Given the description of an element on the screen output the (x, y) to click on. 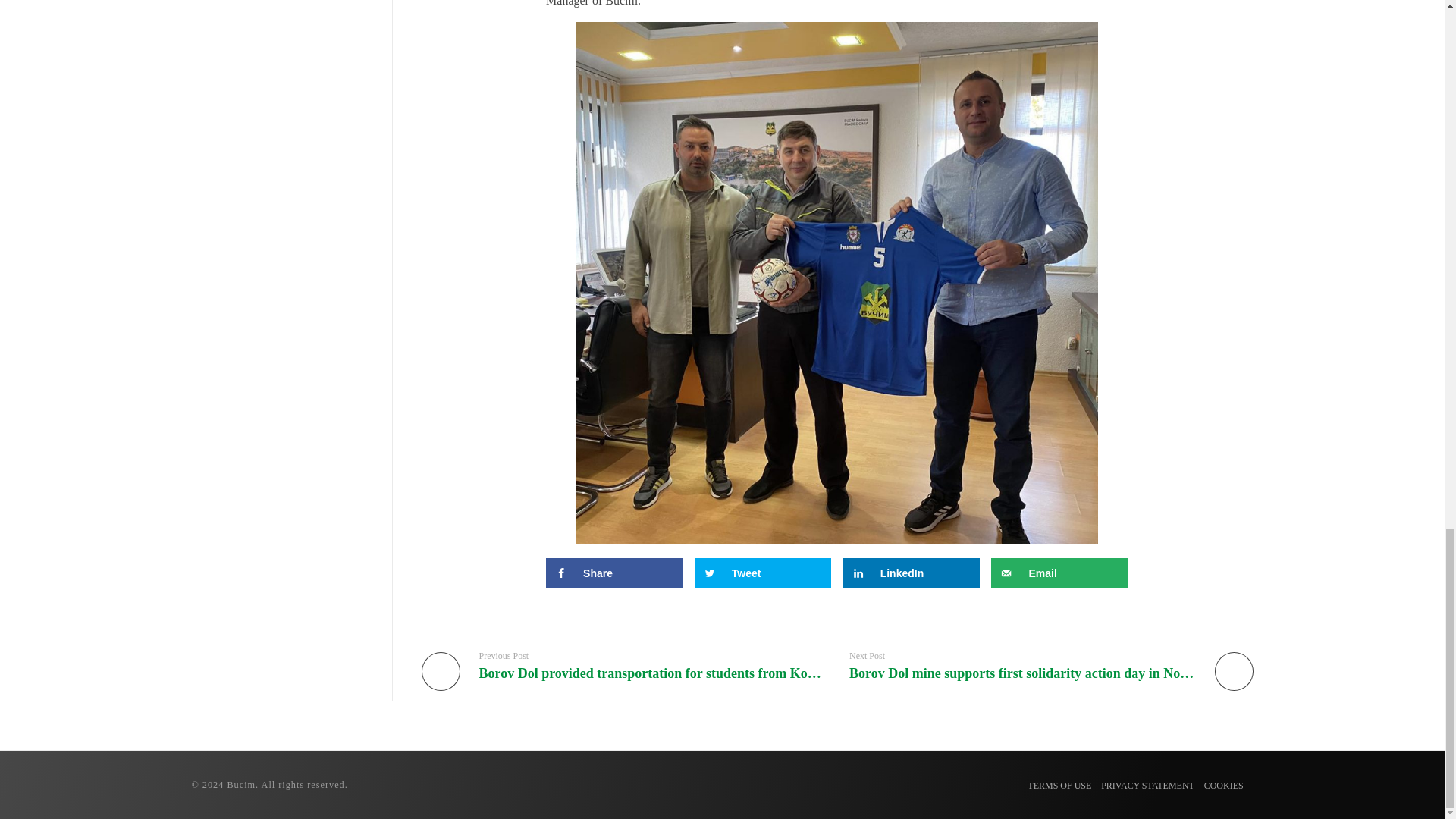
Share (614, 572)
LinkedIn (911, 572)
TERMS OF USE (1058, 785)
Share on Twitter (762, 572)
COOKIES (1223, 785)
Send over email (1058, 572)
Share on LinkedIn (911, 572)
PRIVACY STATEMENT (1146, 785)
